Given the description of an element on the screen output the (x, y) to click on. 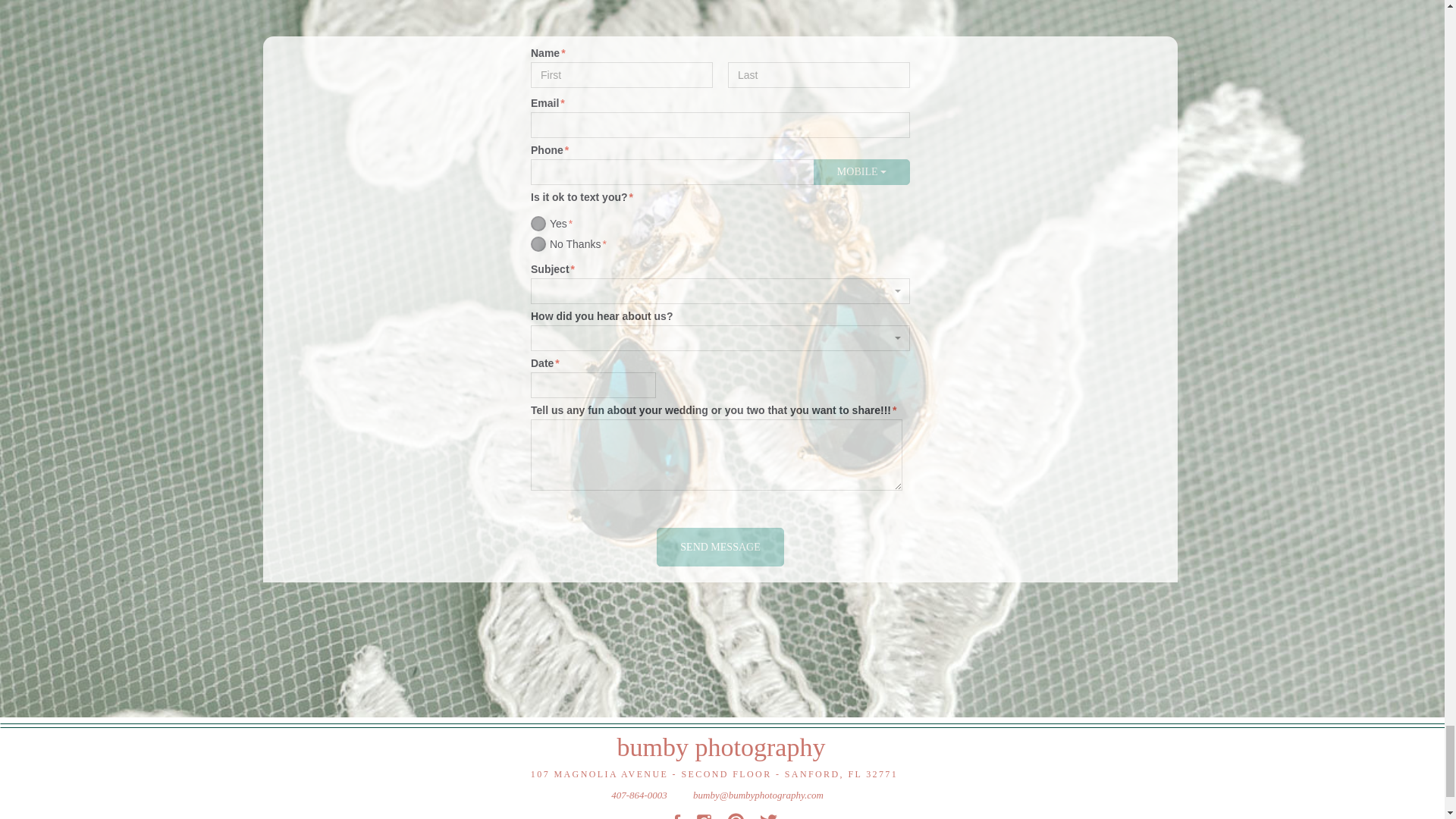
407-864-0003 (638, 793)
